Given the description of an element on the screen output the (x, y) to click on. 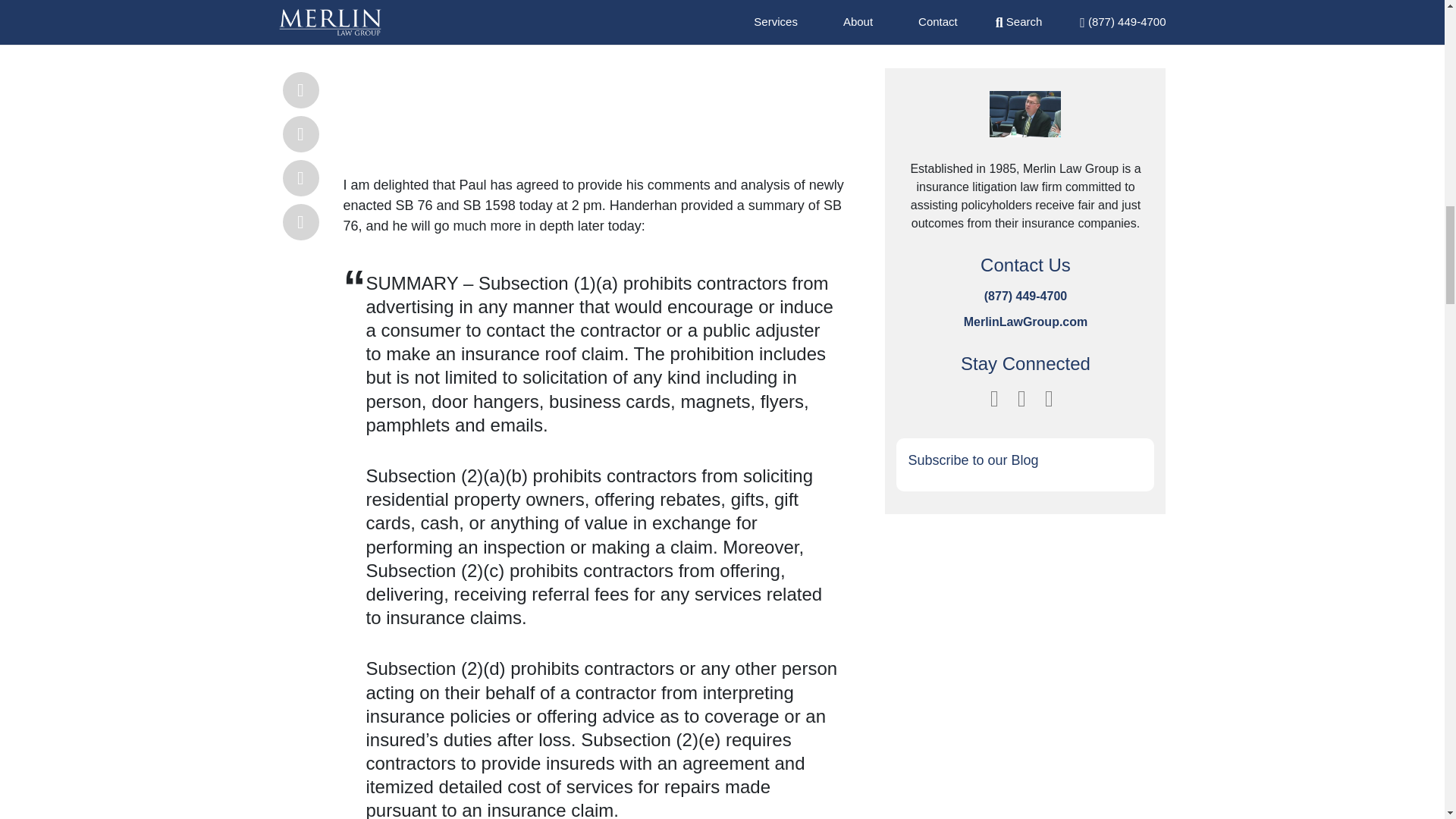
Amy Bach receives F.A.I.R. Consumer Champion award (585, 70)
